Given the description of an element on the screen output the (x, y) to click on. 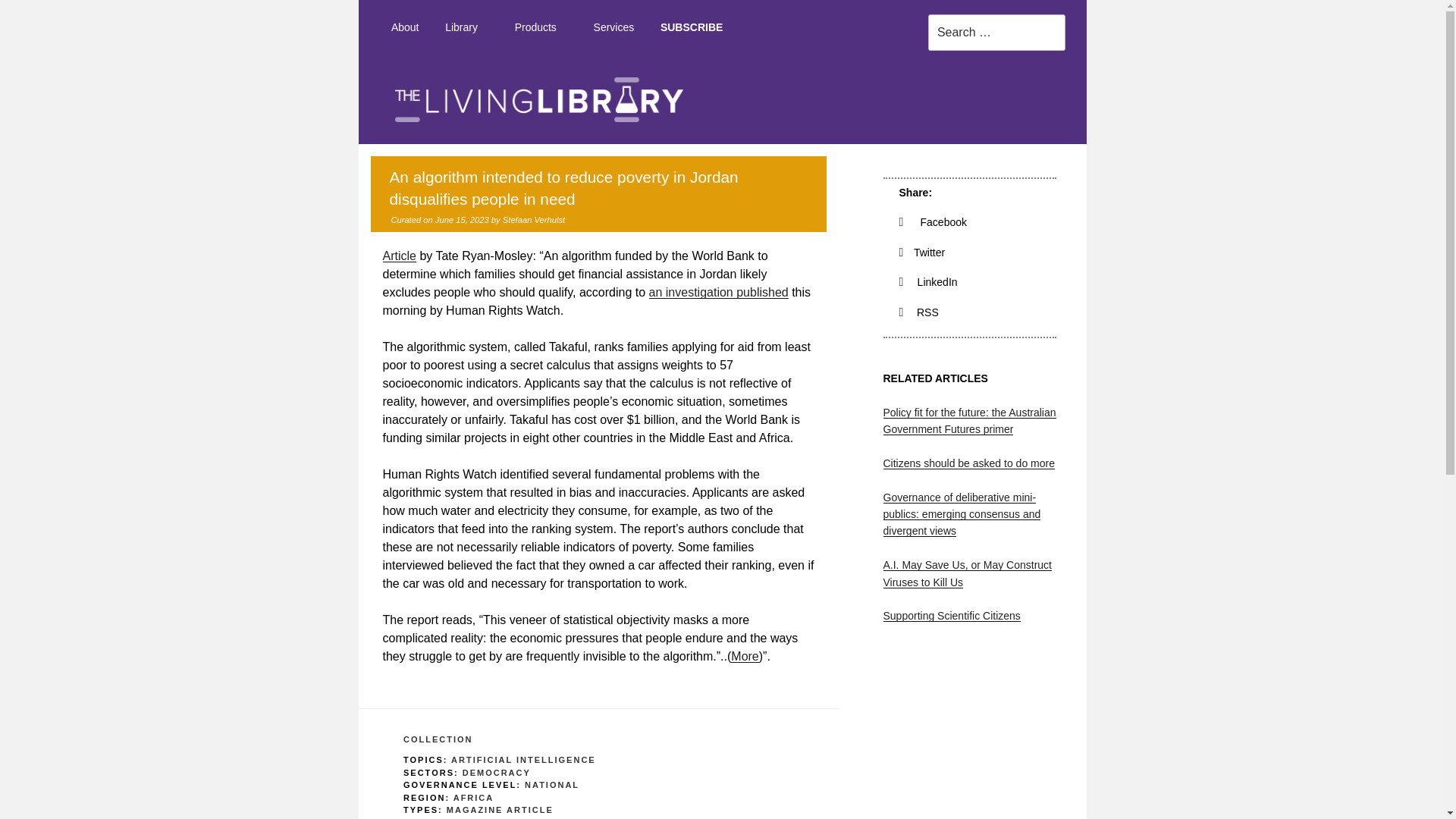
ARTIFICIAL INTELLIGENCE (523, 759)
AFRICA (473, 797)
Products (540, 27)
June 15, 2023 (462, 219)
Twitter (921, 252)
Citizens should be asked to do more (968, 463)
Services (612, 27)
SUBSCRIBE (692, 27)
MAGAZINE ARTICLE (499, 809)
LinkedIn (928, 282)
A.I. May Save Us, or May Construct Viruses to Kill Us (966, 573)
  Facebook (933, 222)
THE LIVING LIBRARY (1117, 158)
DEMOCRACY (497, 772)
